Given the description of an element on the screen output the (x, y) to click on. 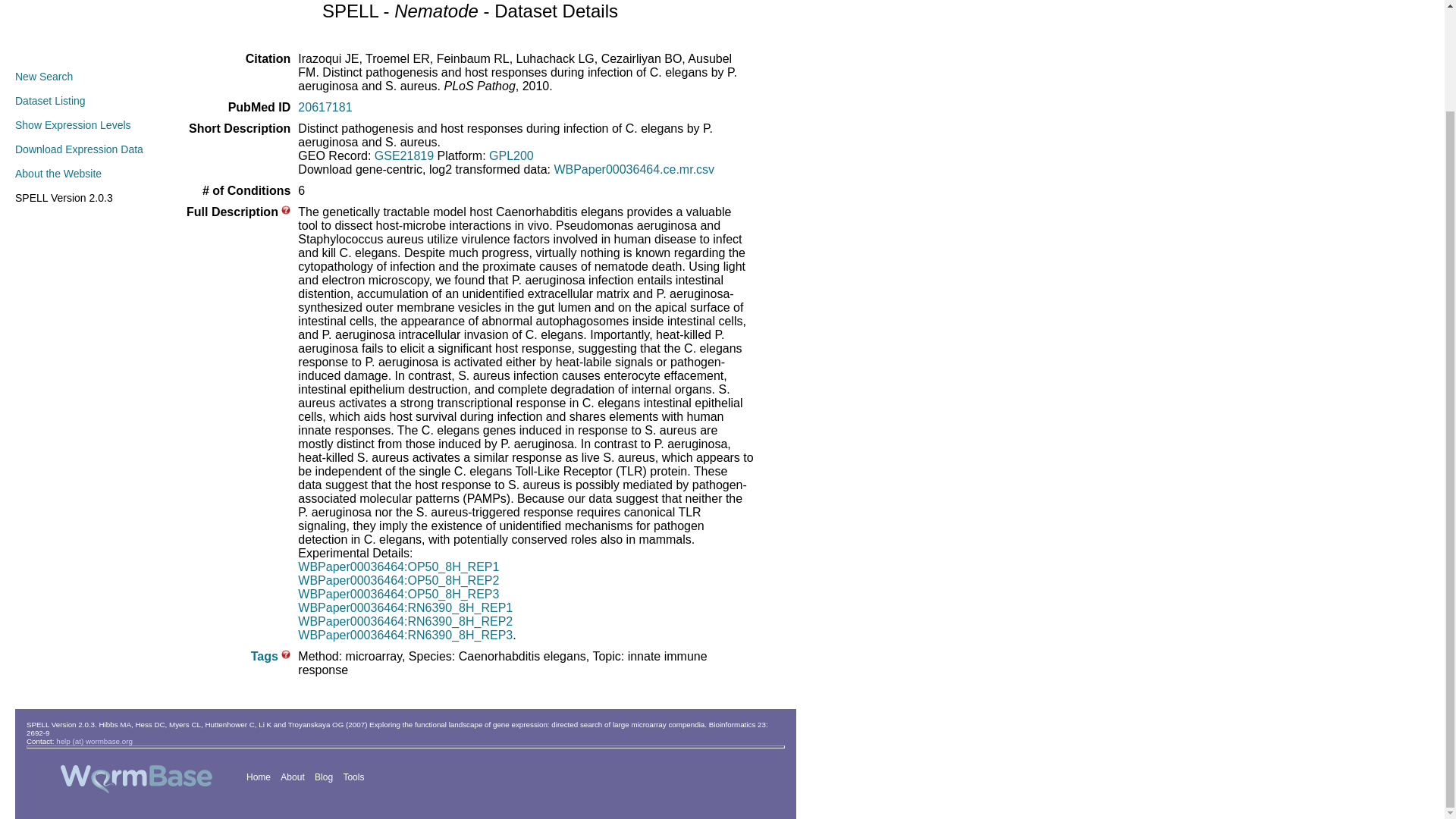
Dataset Listing (49, 101)
20617181 (325, 106)
About the Website (57, 173)
GPL200 (511, 155)
WBPaper00036464.ce.mr.csv (633, 169)
Tools (353, 777)
Tags (264, 656)
Blog (323, 777)
About (291, 777)
Download Expression Data (78, 149)
